Given the description of an element on the screen output the (x, y) to click on. 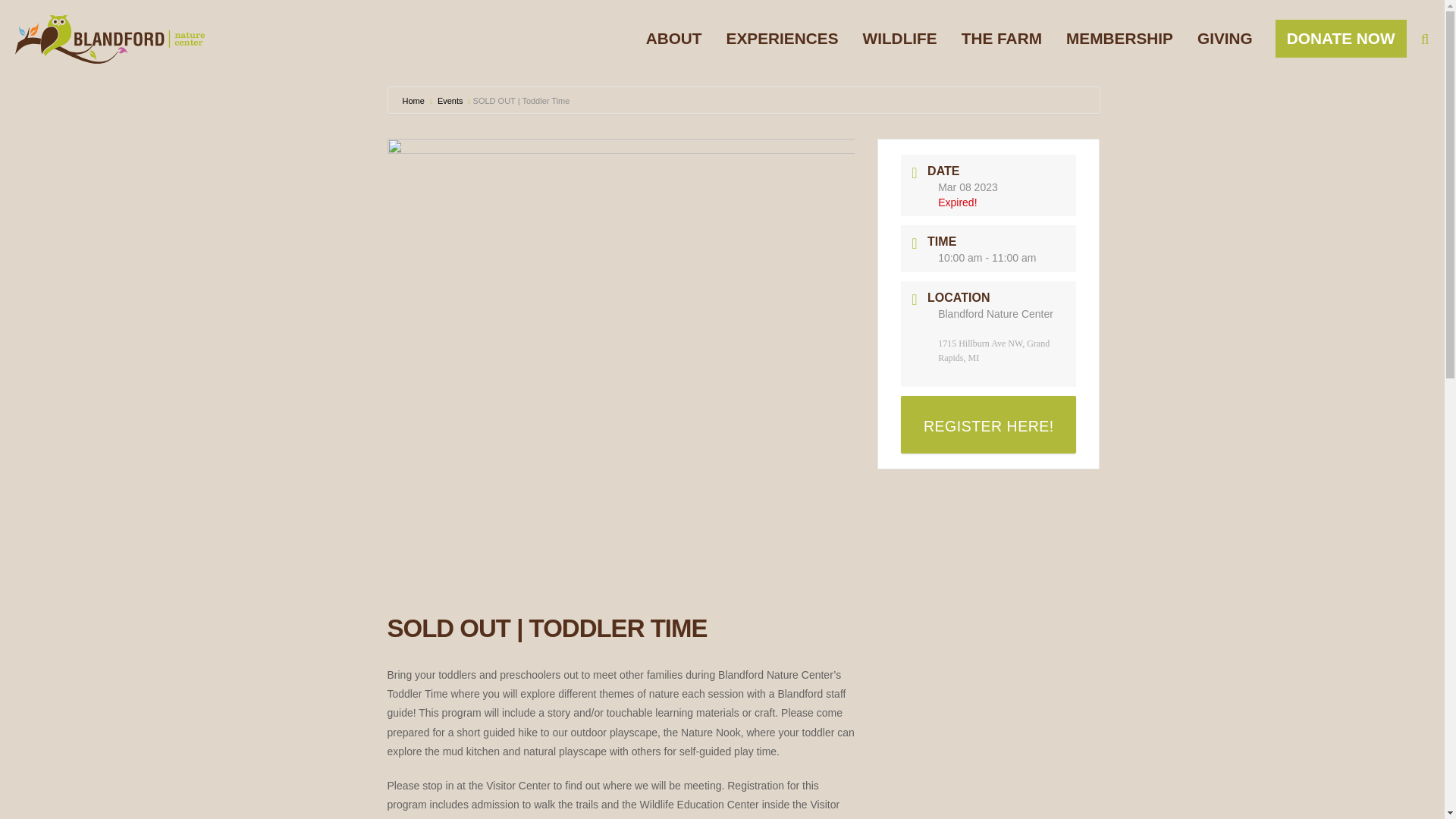
GIVING (1224, 38)
EXPERIENCES (782, 38)
THE FARM (1001, 38)
Search (1397, 39)
ABOUT (673, 38)
Blandford Nature Center (109, 39)
WILDLIFE (898, 38)
MEMBERSHIP (1119, 38)
DONATE NOW (1340, 38)
